Given the description of an element on the screen output the (x, y) to click on. 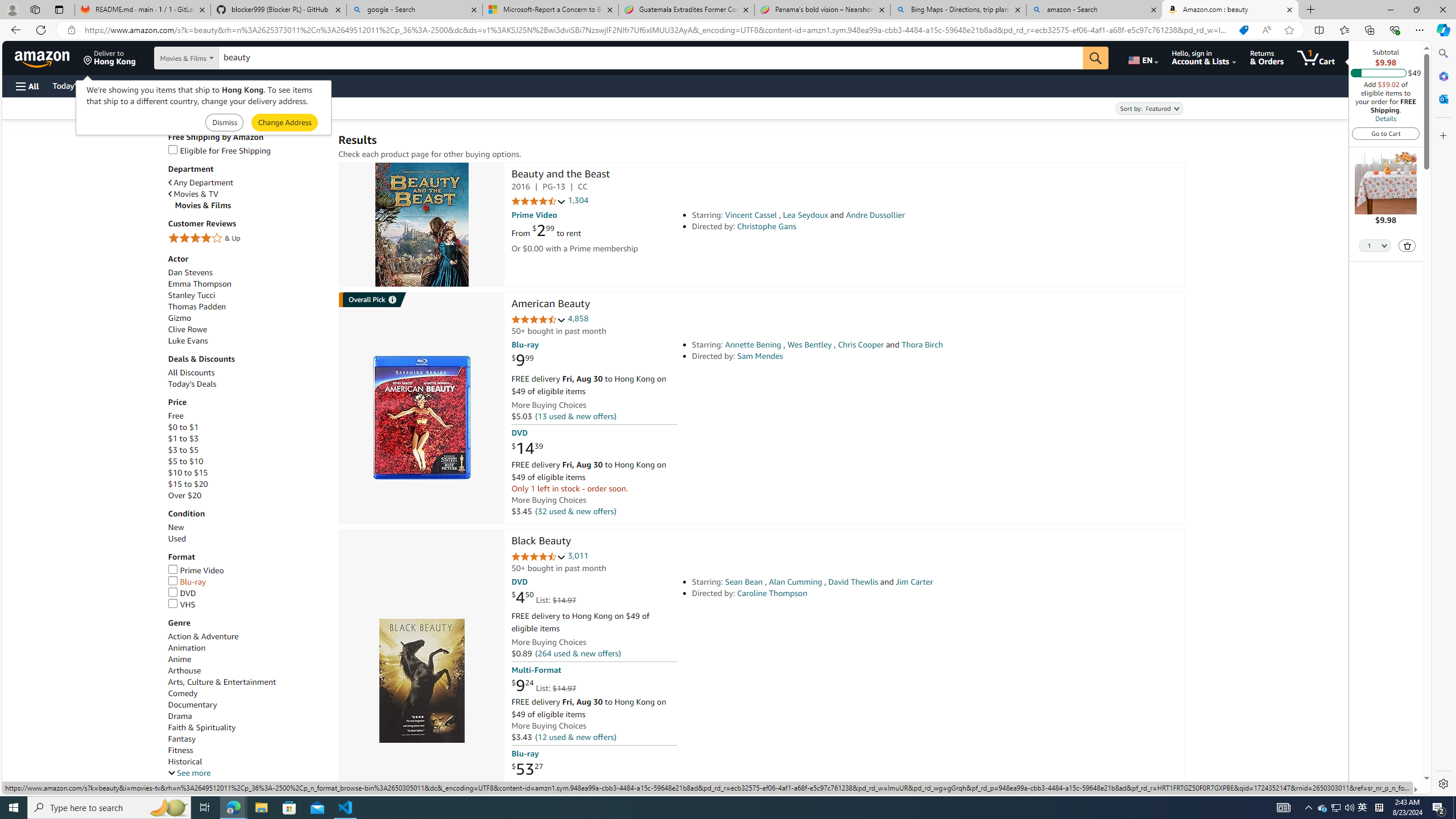
Today's Deals (191, 383)
Prime Video (195, 570)
Arts, Culture & Entertainment (247, 682)
Amazon.com : beauty (1230, 9)
Andre Dussollier (874, 214)
DVD (247, 593)
Hello, sign in Account & Lists (1203, 57)
Action & Adventure (247, 636)
$0 to $1 (183, 426)
Caroline Thompson (772, 593)
Search in (210, 58)
$10 to $15 (187, 472)
